Given the description of an element on the screen output the (x, y) to click on. 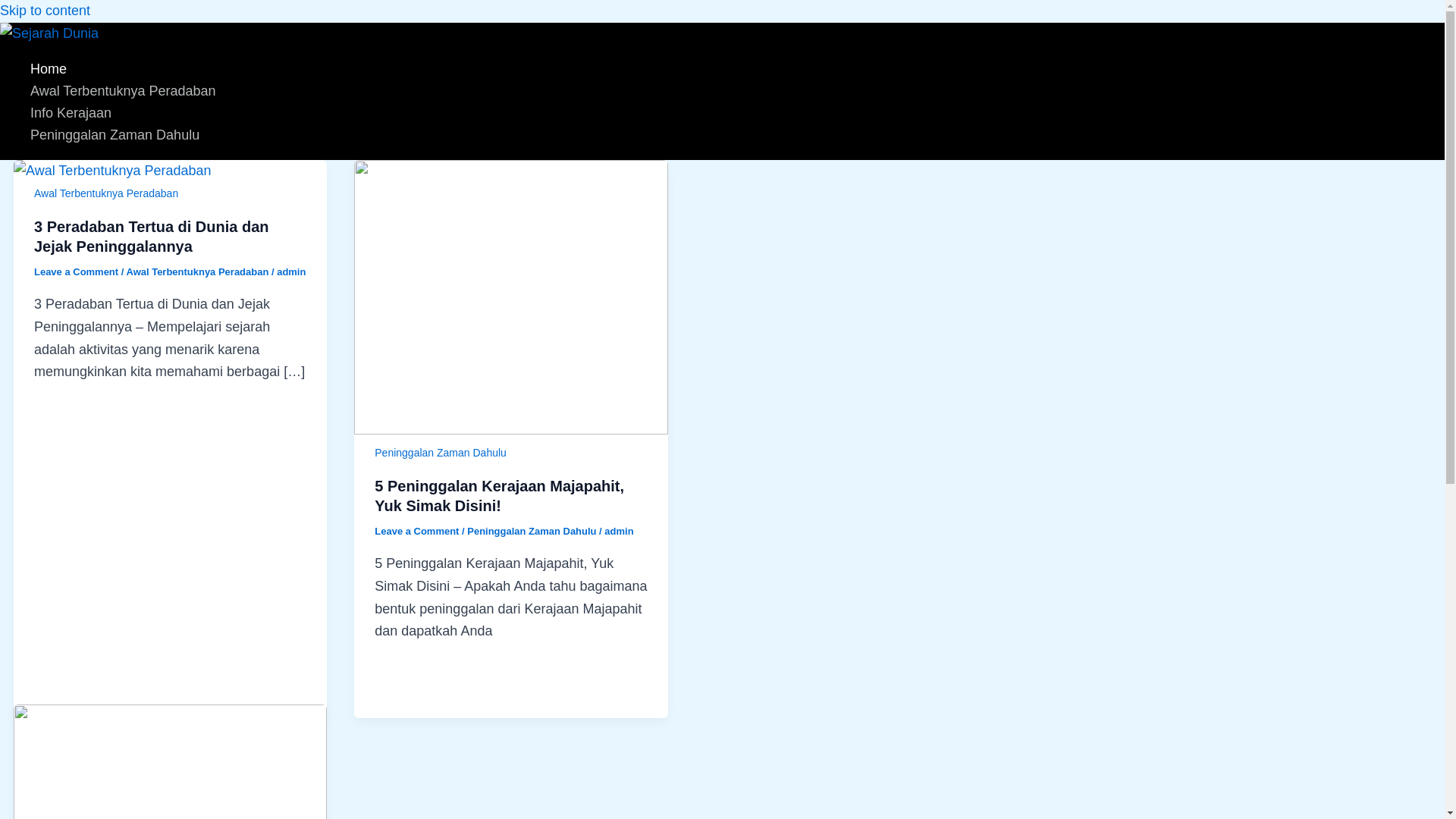
Info Kerajaan (122, 113)
Home (122, 69)
Awal Terbentuknya Peradaban (105, 193)
3 Peradaban Tertua di Dunia dan Jejak Peninggalannya (150, 236)
Skip to content (45, 10)
Skip to content (45, 10)
View all posts by admin (618, 531)
admin (290, 271)
Awal Terbentuknya Peradaban (196, 271)
View all posts by admin (290, 271)
